Given the description of an element on the screen output the (x, y) to click on. 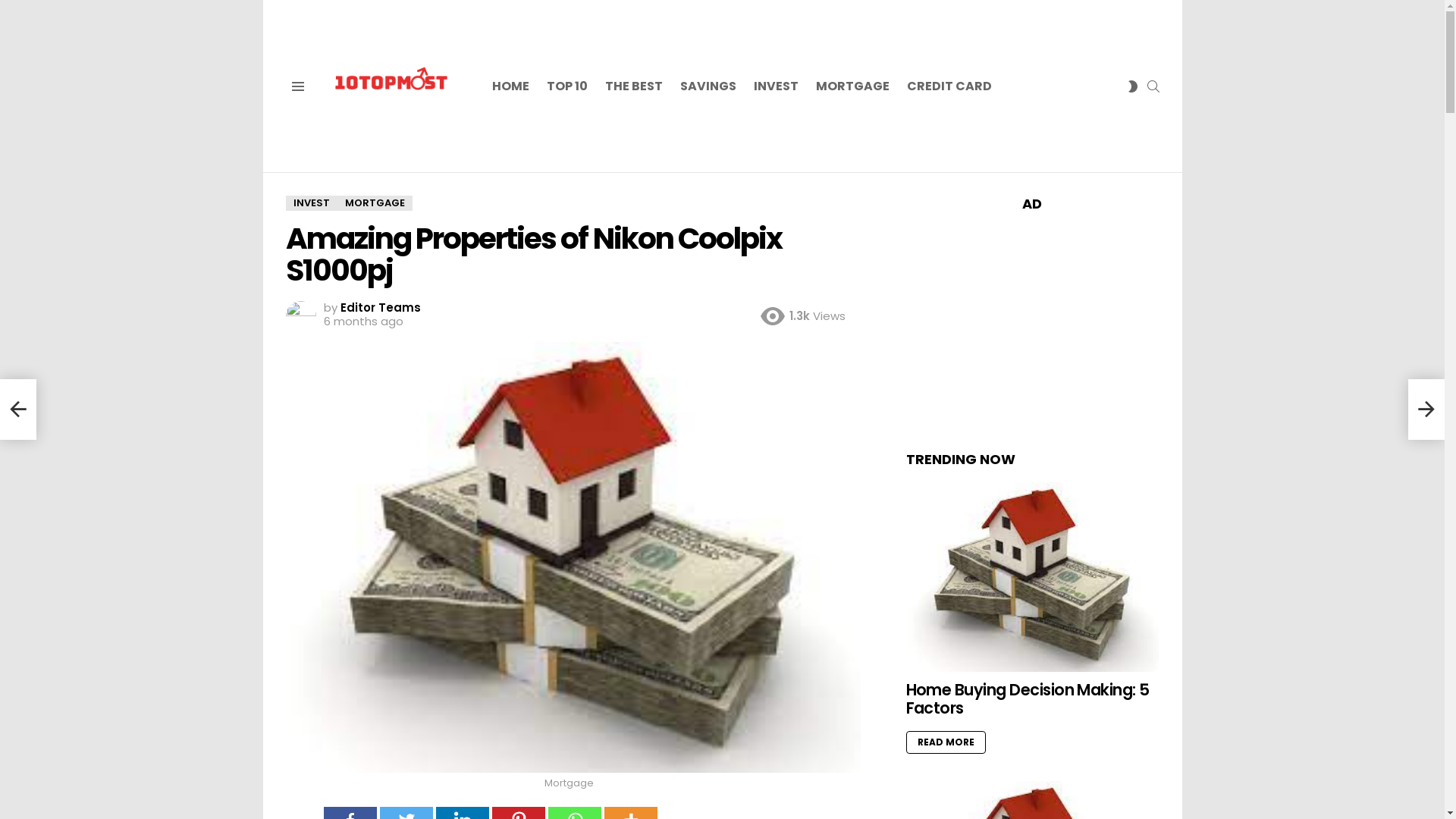
Editor Teams Element type: text (379, 307)
CREDIT CARD Element type: text (949, 86)
Top 10 Richest People in the World Element type: text (18, 409)
SAVINGS Element type: text (707, 86)
INVEST Element type: text (310, 202)
Home Buying Decision Making: 5 Factors Element type: text (1026, 698)
READ MORE Element type: text (945, 742)
HOME Element type: text (509, 86)
THE BEST Element type: text (633, 86)
INVEST Element type: text (776, 86)
SWITCH SKIN Element type: text (1132, 86)
SEARCH Element type: text (1152, 86)
Amazing Properties of Nikon Coolpix S1000pj 1 Element type: hover (572, 557)
Advertisement Element type: hover (1031, 322)
MORTGAGE Element type: text (852, 86)
Menu Element type: text (297, 86)
TOP 10 Element type: text (566, 86)
Home Buying Decision Making: 5 Factors Element type: hover (1031, 576)
MORTGAGE Element type: text (373, 202)
